Given the description of an element on the screen output the (x, y) to click on. 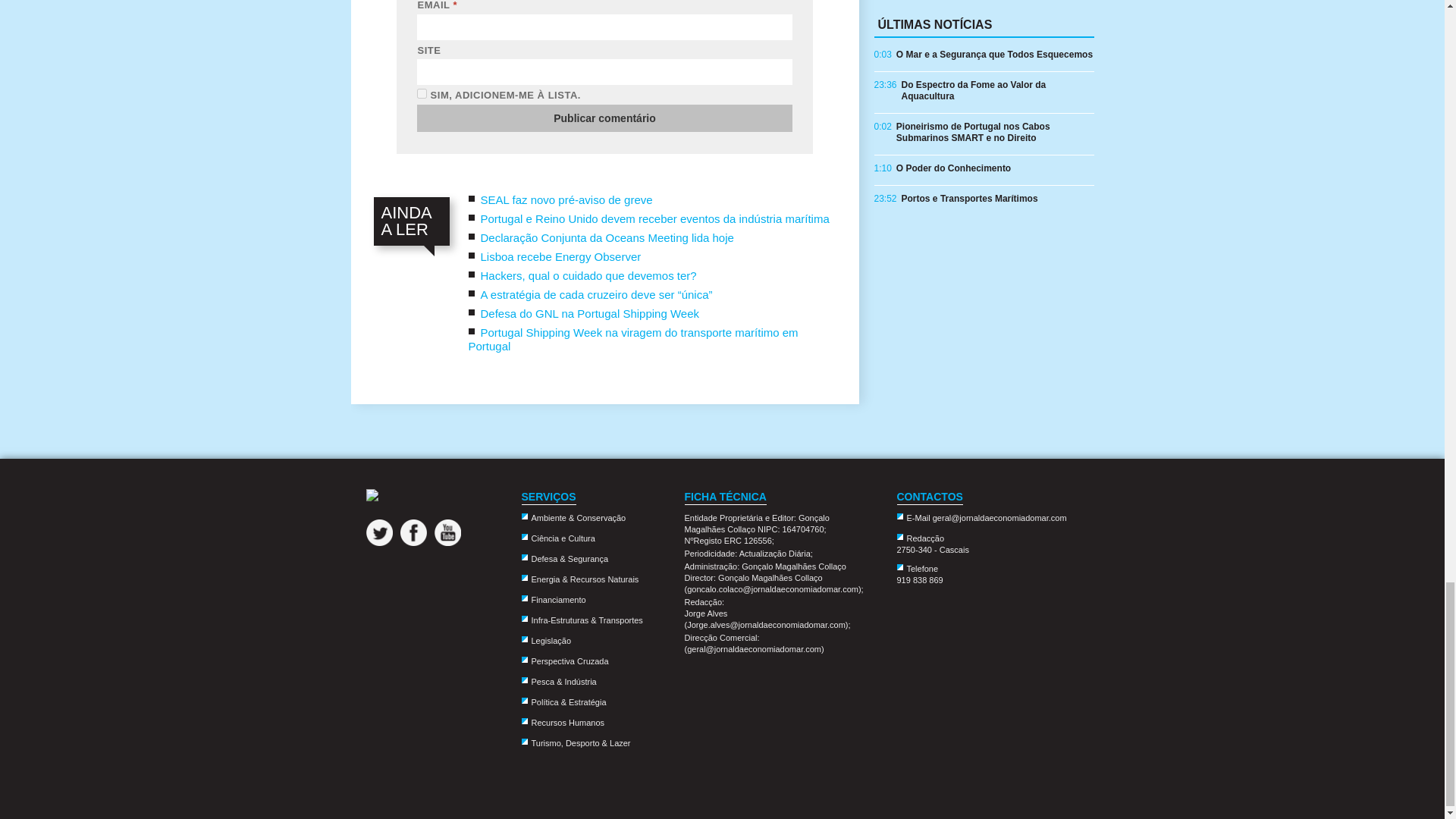
Defesa do GNL na Portugal Shipping Week (590, 313)
Defesa do GNL na Portugal Shipping Week (590, 313)
Lisboa recebe Energy Observer (561, 256)
Hackers, qual o cuidado que devemos ter? (588, 275)
Lisboa recebe Energy Observer (561, 256)
1 (421, 93)
Hackers, qual o cuidado que devemos ter? (588, 275)
